Given the description of an element on the screen output the (x, y) to click on. 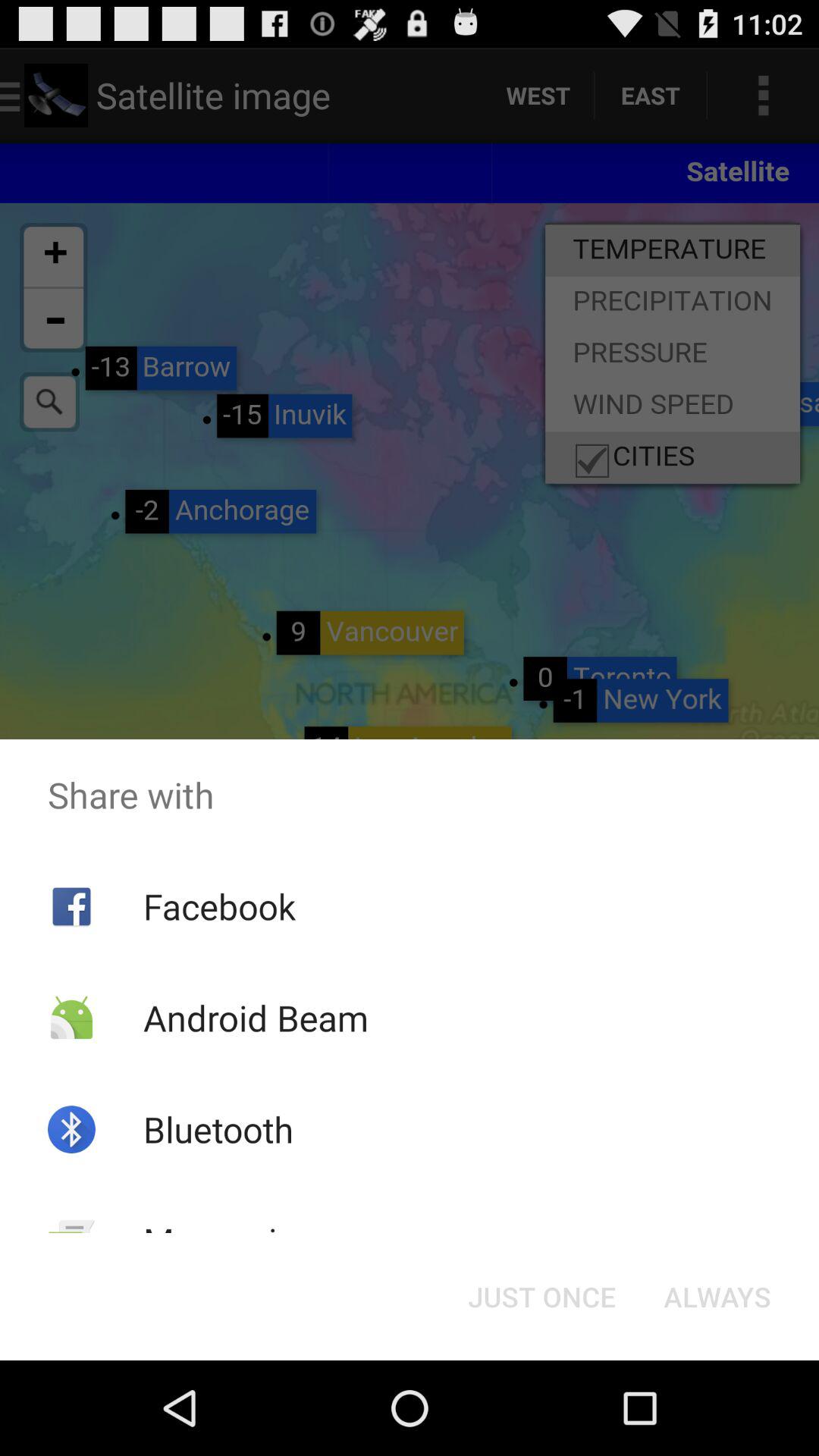
tap icon below the bluetooth app (229, 1240)
